Given the description of an element on the screen output the (x, y) to click on. 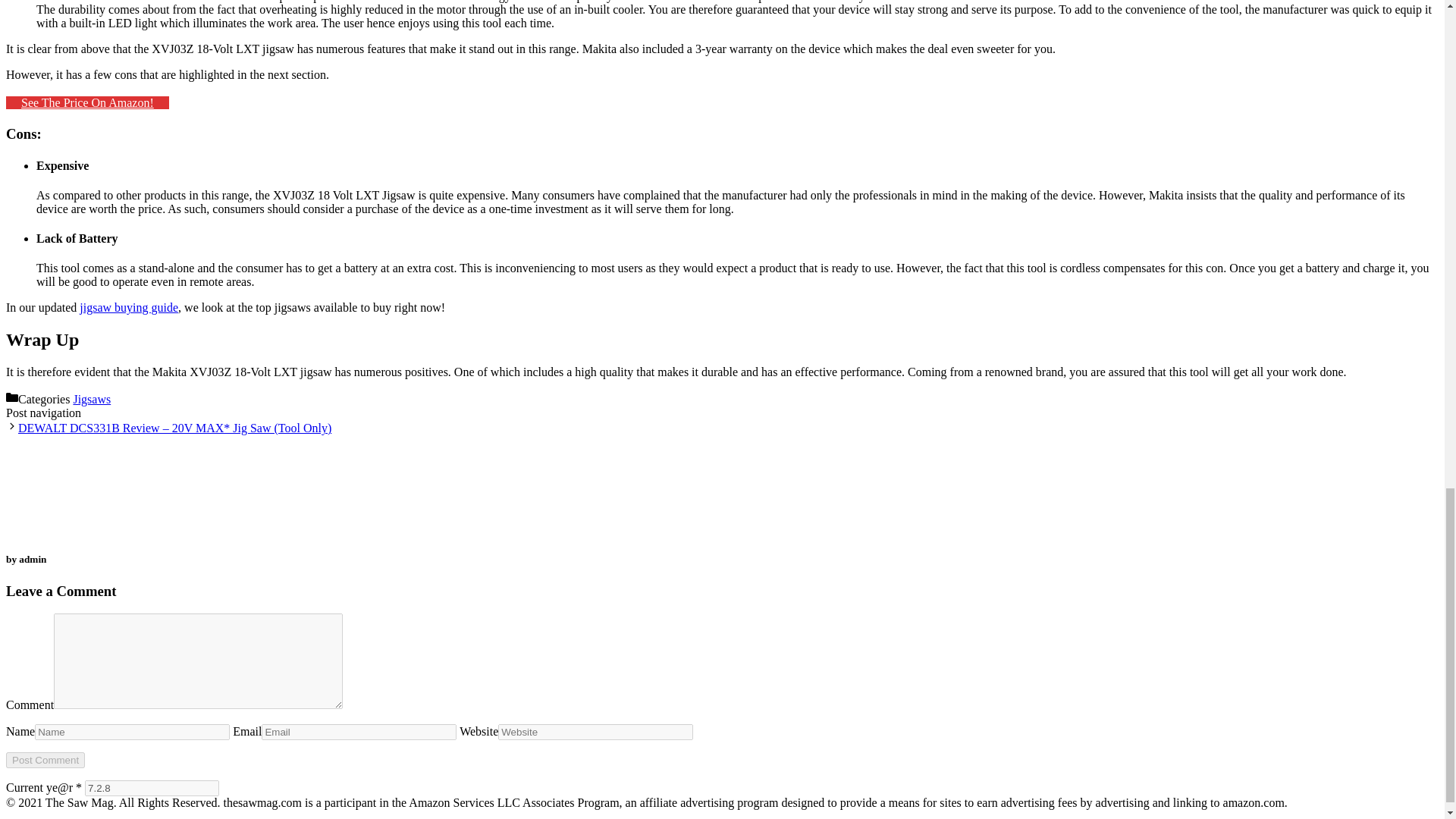
Next (174, 427)
Post Comment (44, 760)
jigsaw buying guide (128, 307)
Post Comment (44, 760)
7.2.8 (151, 788)
Jigsaws (91, 399)
See The Price On Amazon! (86, 102)
